Given the description of an element on the screen output the (x, y) to click on. 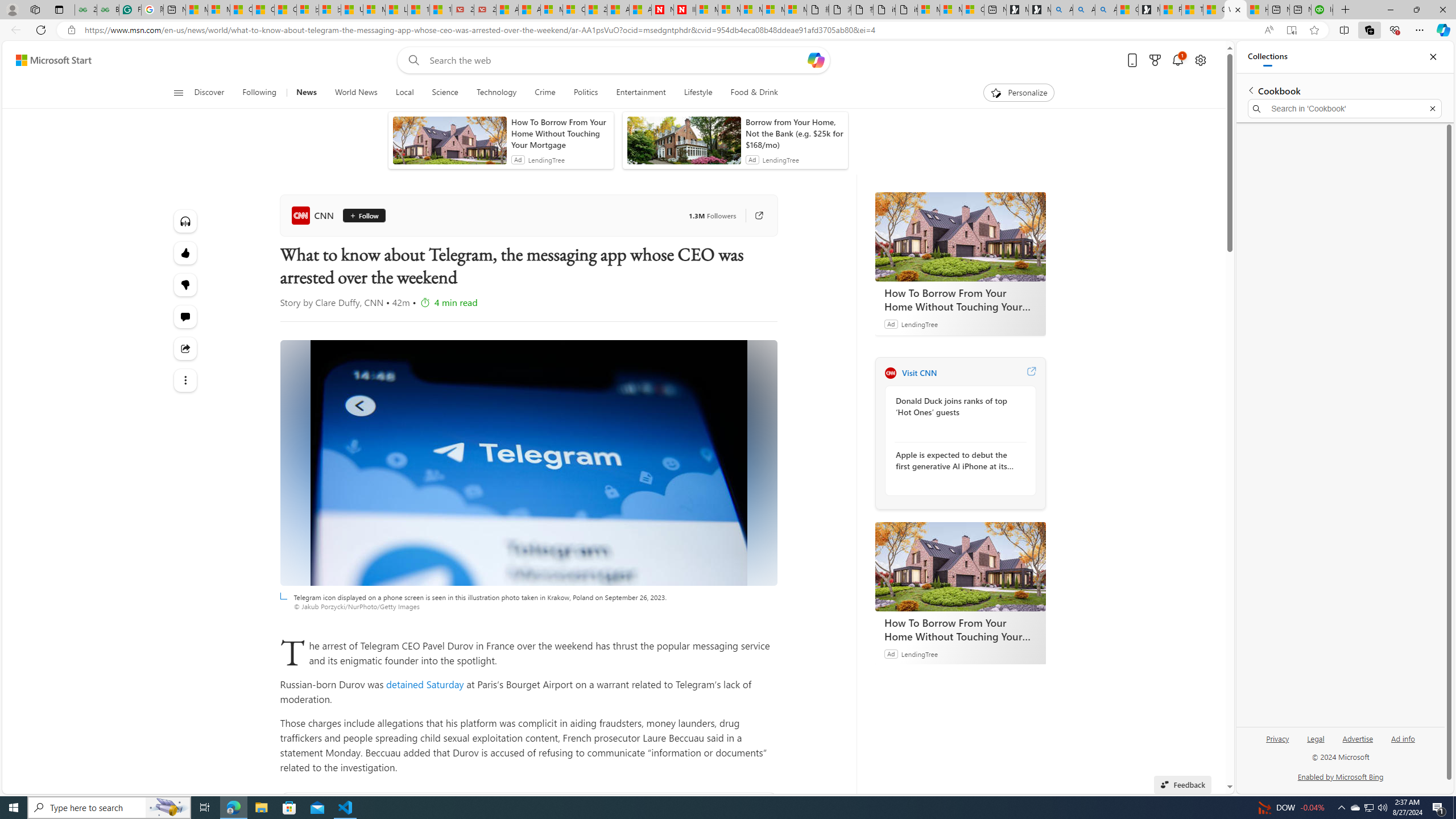
Intuit QuickBooks Online - Quickbooks (1322, 9)
Borrow from Your Home, Not the Bank (e.g. $25k for $168/mo) (794, 133)
Share this story (184, 348)
